Given the description of an element on the screen output the (x, y) to click on. 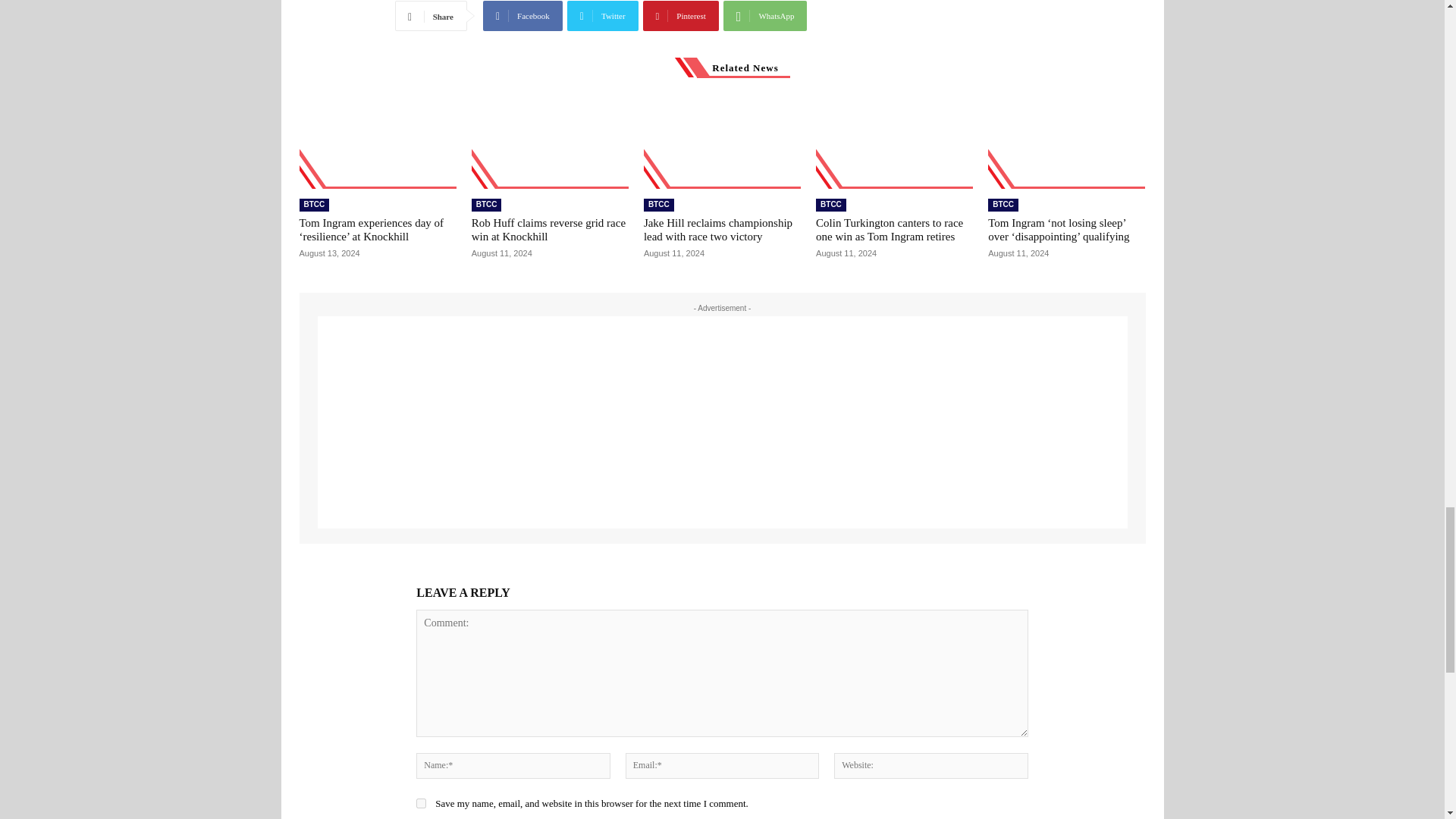
Twitter (603, 15)
yes (421, 803)
Facebook (522, 15)
